Given the description of an element on the screen output the (x, y) to click on. 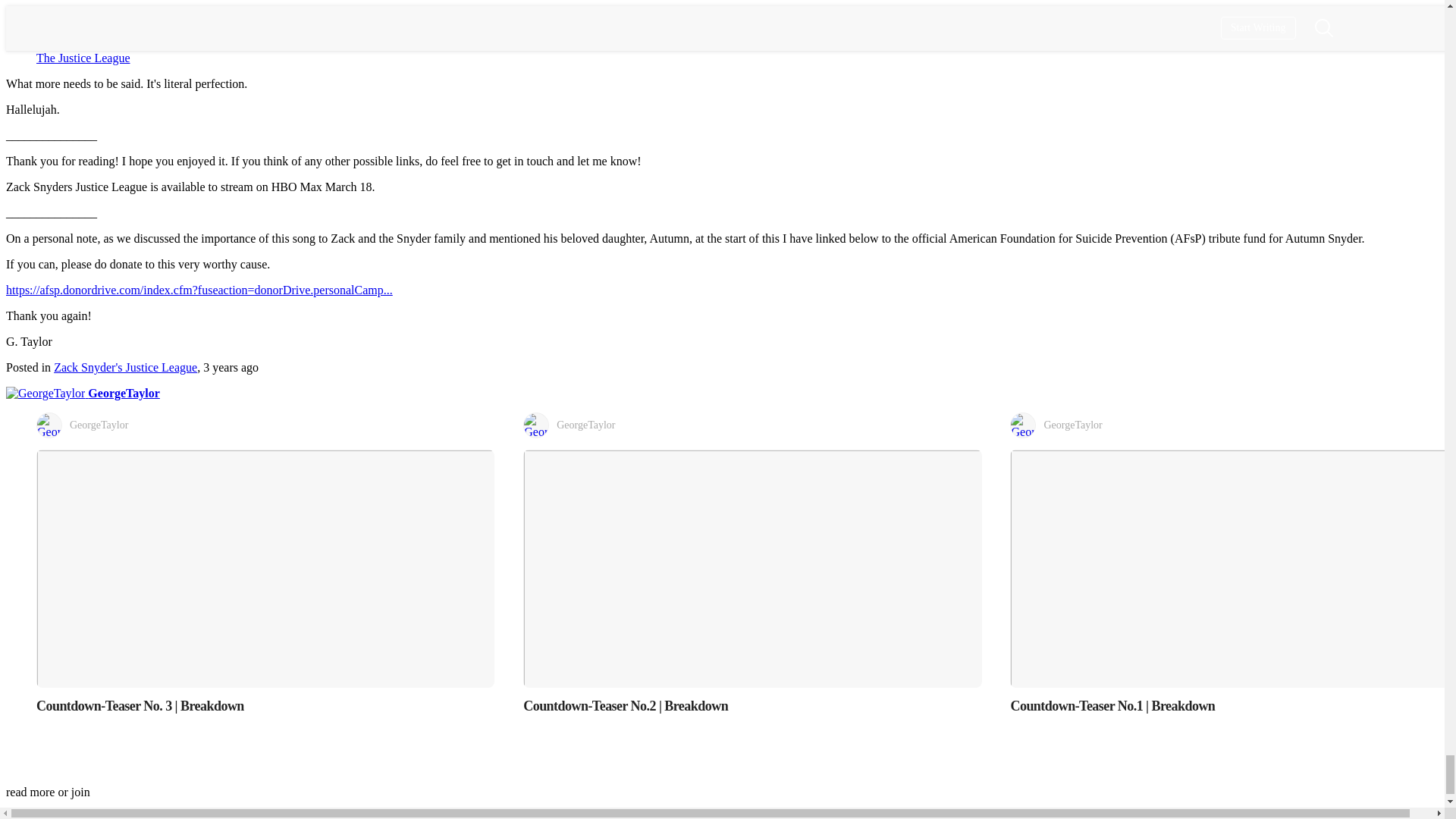
The Justice League (83, 57)
Zack Snyder's Justice League (124, 367)
GeorgeTaylor (751, 425)
GeorgeTaylor (265, 425)
GeorgeTaylor (82, 392)
